Given the description of an element on the screen output the (x, y) to click on. 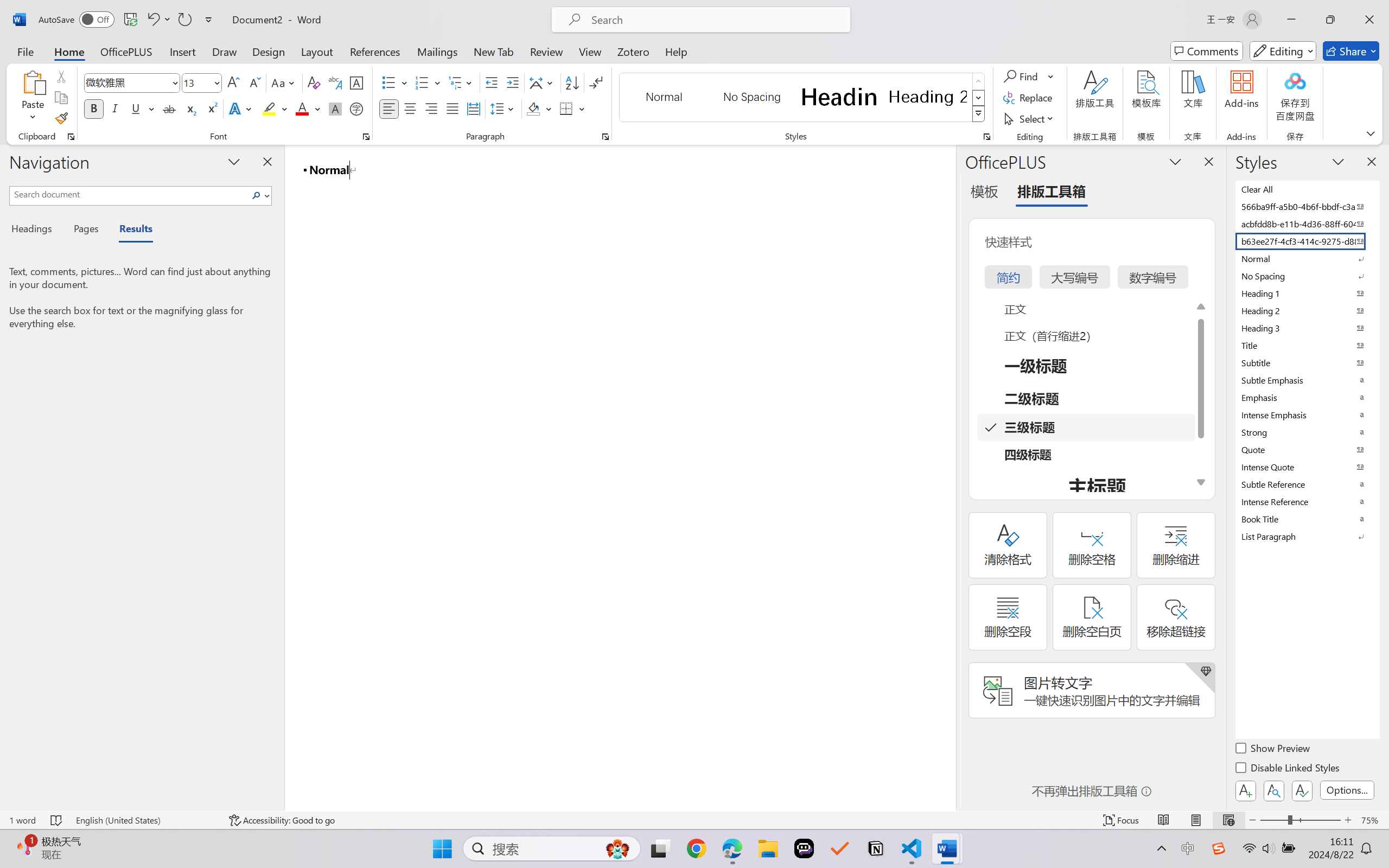
OfficePLUS (126, 51)
Repeat Style (184, 19)
Normal (1306, 258)
b63ee27f-4cf3-414c-9275-d88e3f90795e (1306, 240)
Layout (316, 51)
566ba9ff-a5b0-4b6f-bbdf-c3ab41993fc2 (1306, 206)
